Given the description of an element on the screen output the (x, y) to click on. 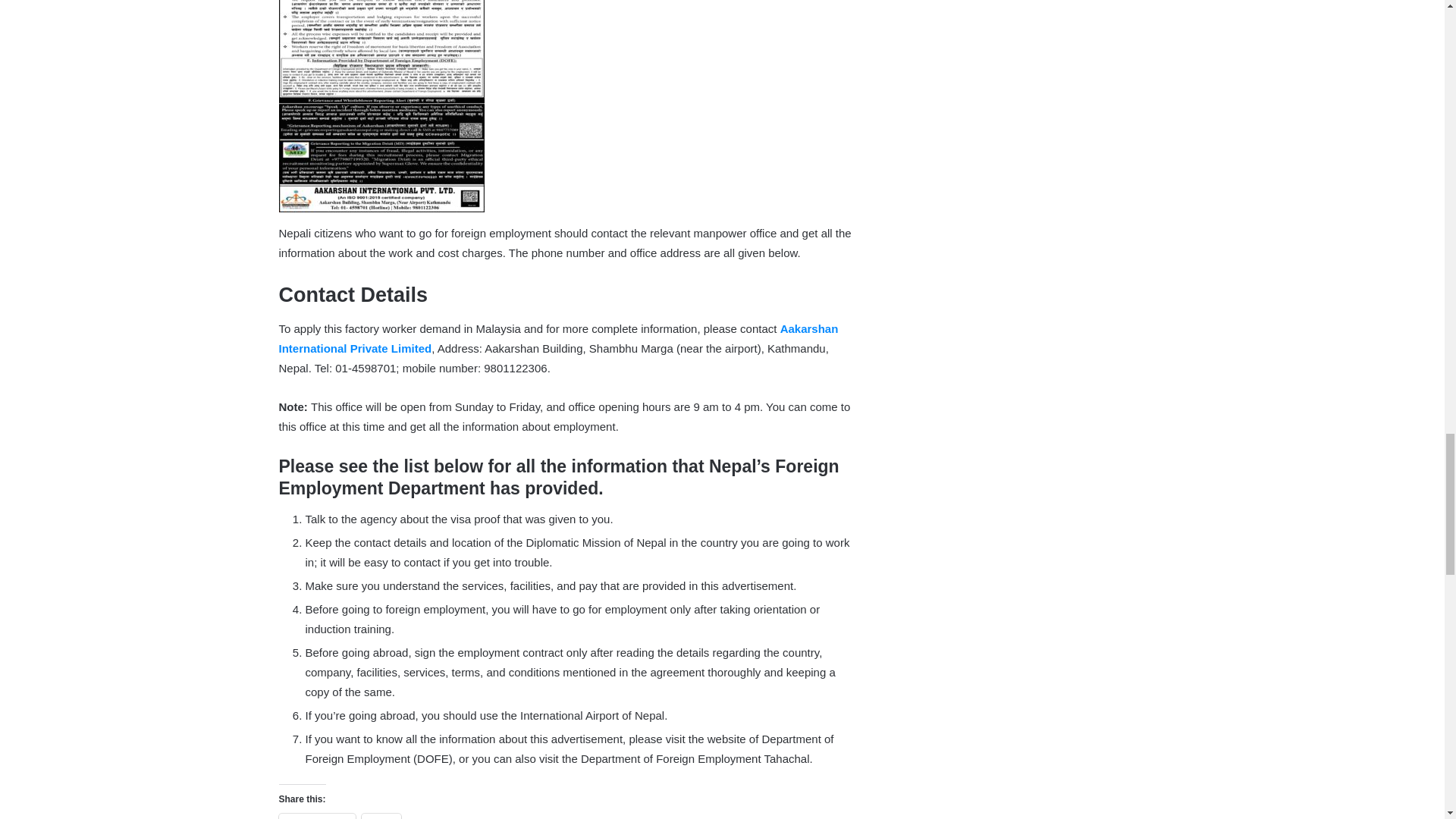
Click to share on Facebook (317, 816)
Click to share on X (381, 816)
Facebook (317, 816)
X (381, 816)
Aakarshan International Private Limited (558, 338)
